Given the description of an element on the screen output the (x, y) to click on. 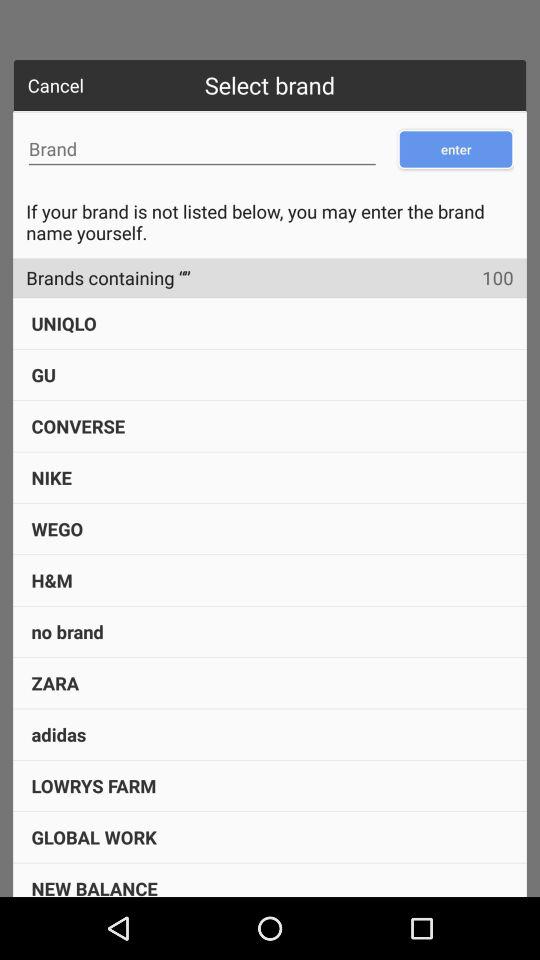
click item below wego item (51, 580)
